Given the description of an element on the screen output the (x, y) to click on. 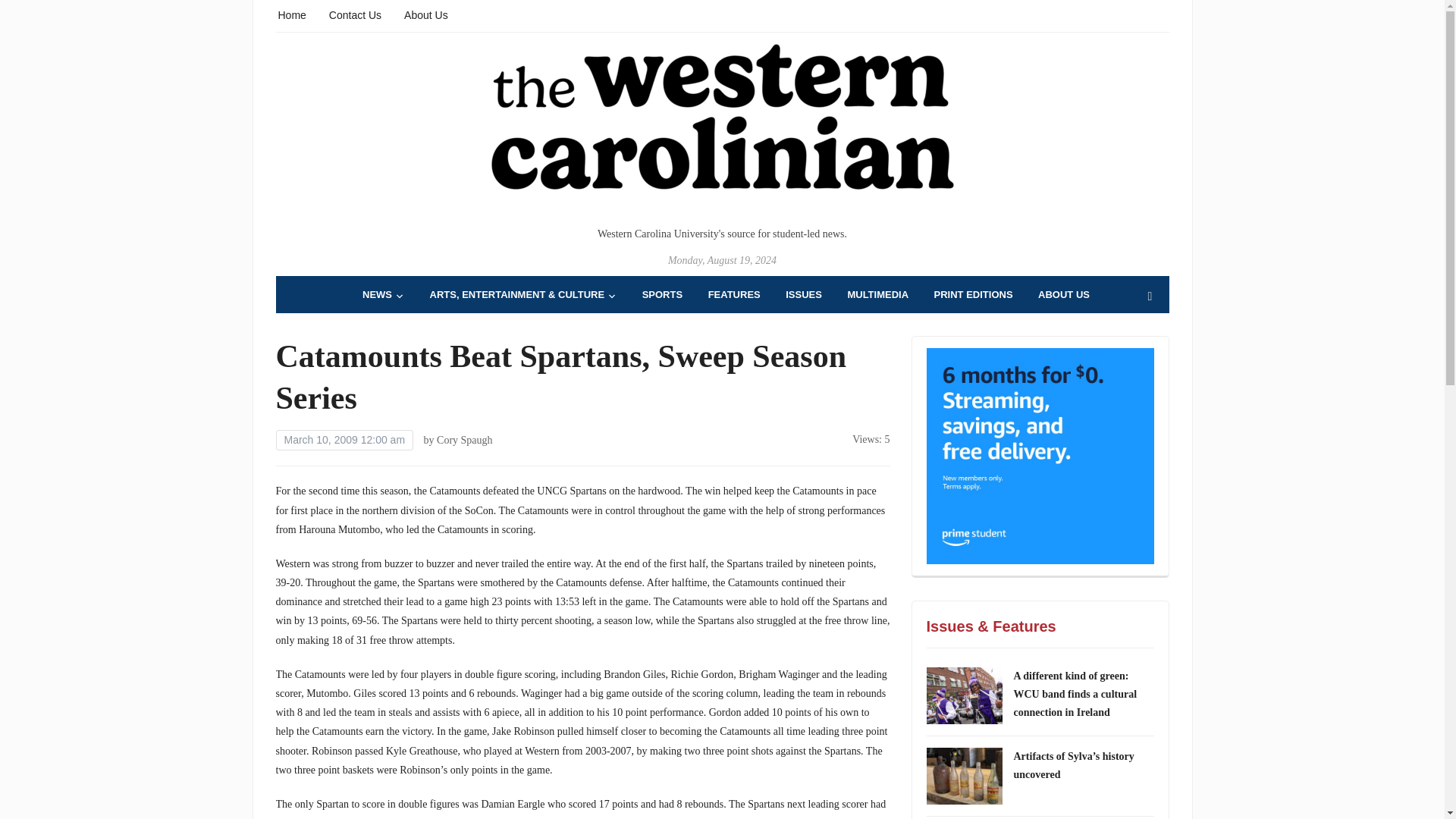
Search (1149, 296)
ABOUT US (1063, 294)
FEATURES (733, 294)
MULTIMEDIA (877, 294)
Contact Us (355, 14)
Home (291, 14)
ISSUES (804, 294)
PRINT EDITIONS (973, 294)
NEWS (383, 294)
